Given the description of an element on the screen output the (x, y) to click on. 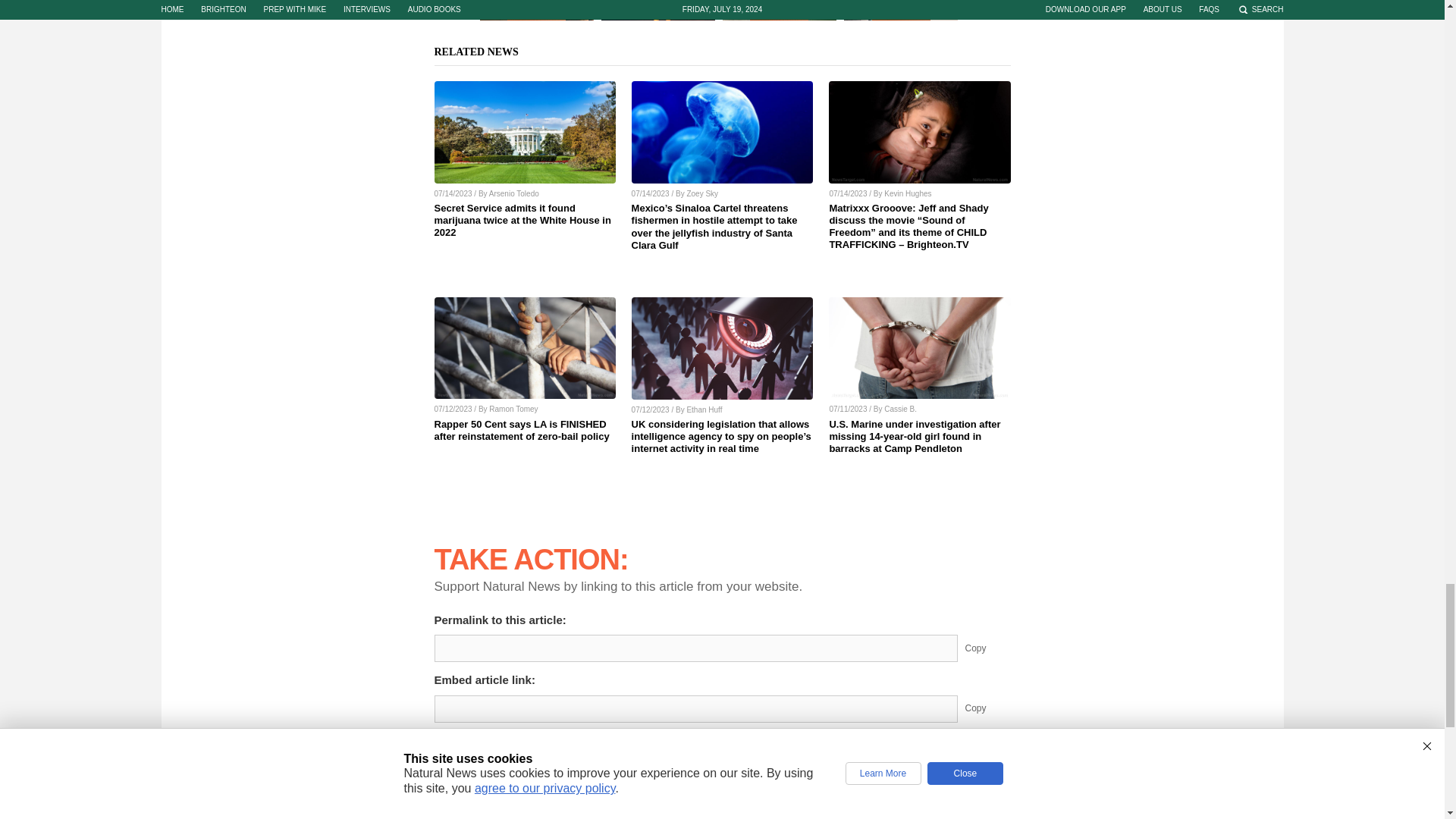
Copy Permalink (986, 647)
Copy Embed Link (986, 708)
